Given the description of an element on the screen output the (x, y) to click on. 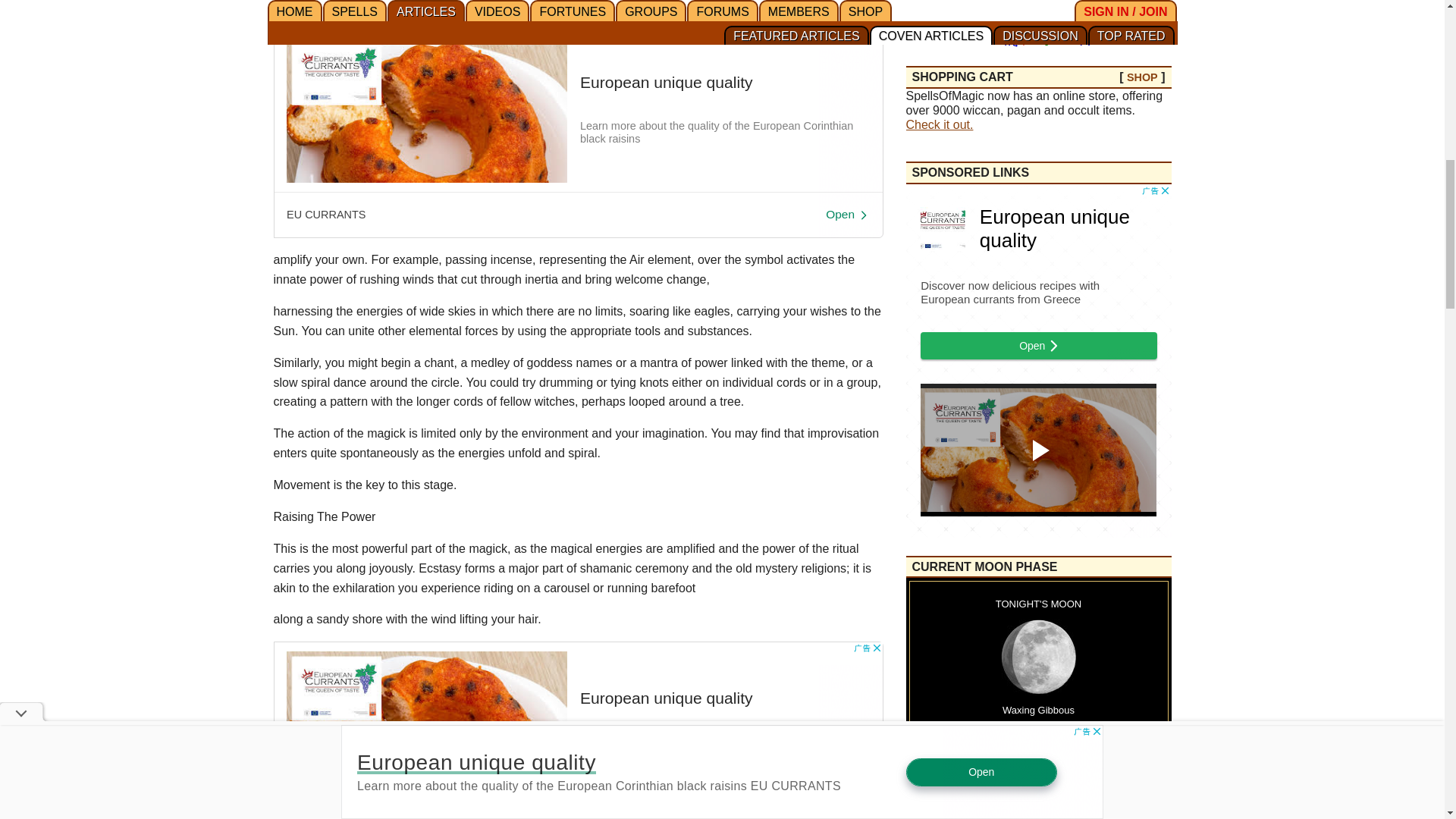
Advertisement (577, 730)
Advertisement (577, 131)
